Given the description of an element on the screen output the (x, y) to click on. 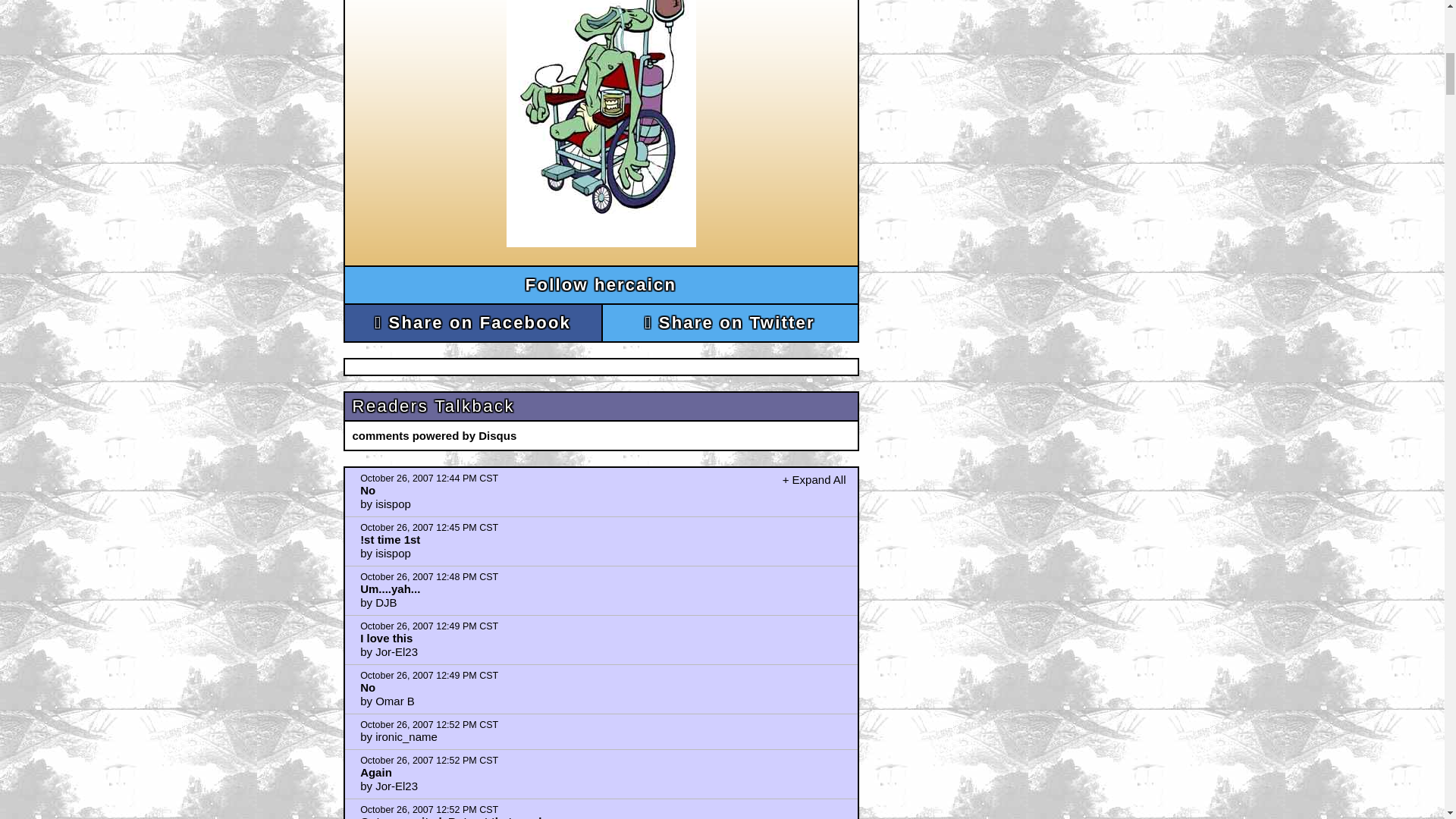
I love this (385, 637)
!st time 1st (389, 539)
No (367, 686)
No (367, 490)
Share on Twitter (729, 322)
Um....yah... (389, 588)
Again (375, 771)
comments powered by Disqus (434, 435)
Follow hercaicn (600, 284)
Got me excited. But not that much. (453, 816)
Share on Facebook (471, 322)
